Given the description of an element on the screen output the (x, y) to click on. 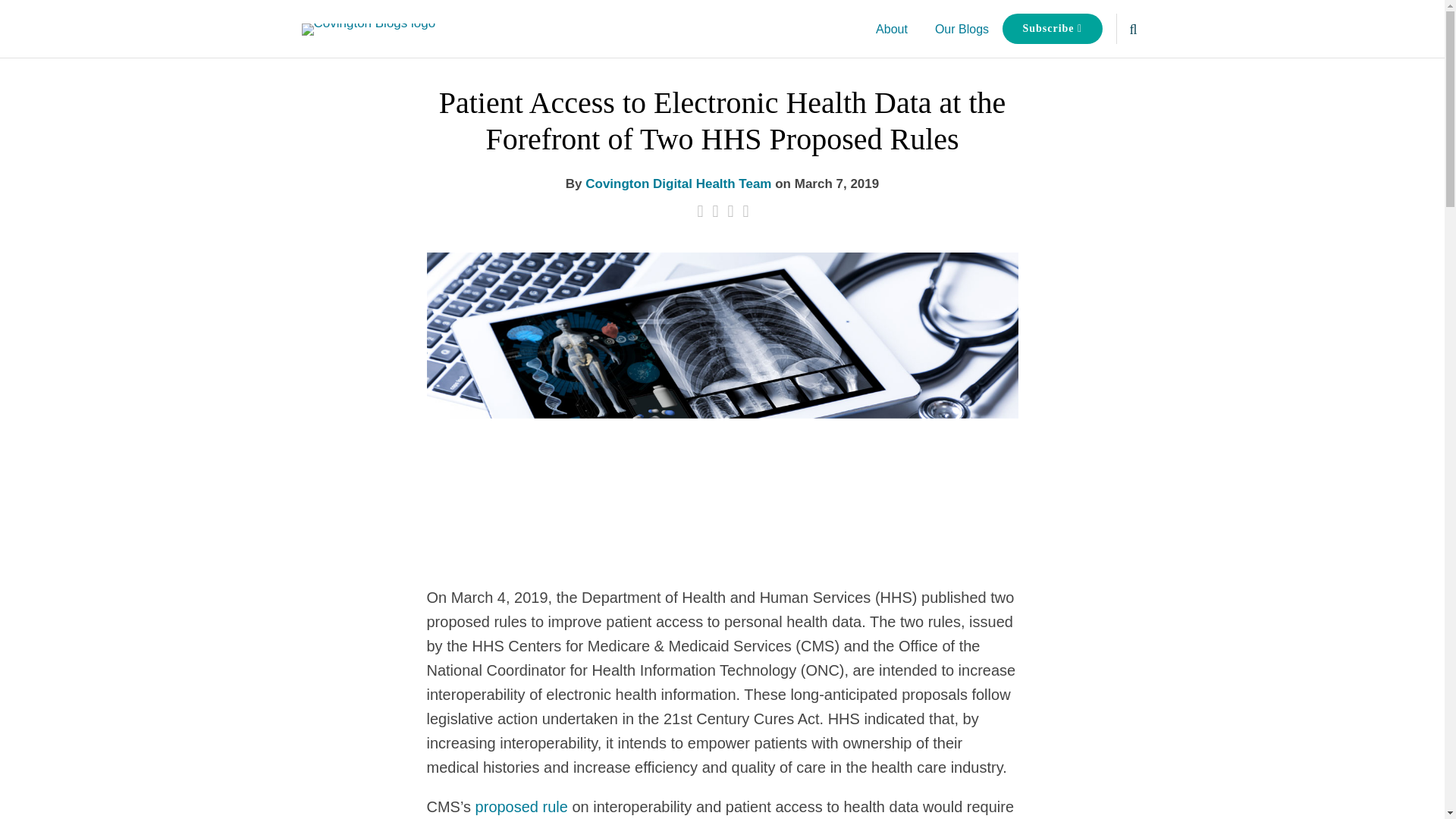
proposed rule (521, 806)
Covington Digital Health Team (678, 183)
Subscribe (1052, 28)
Our Blogs (961, 29)
About (891, 29)
